Given the description of an element on the screen output the (x, y) to click on. 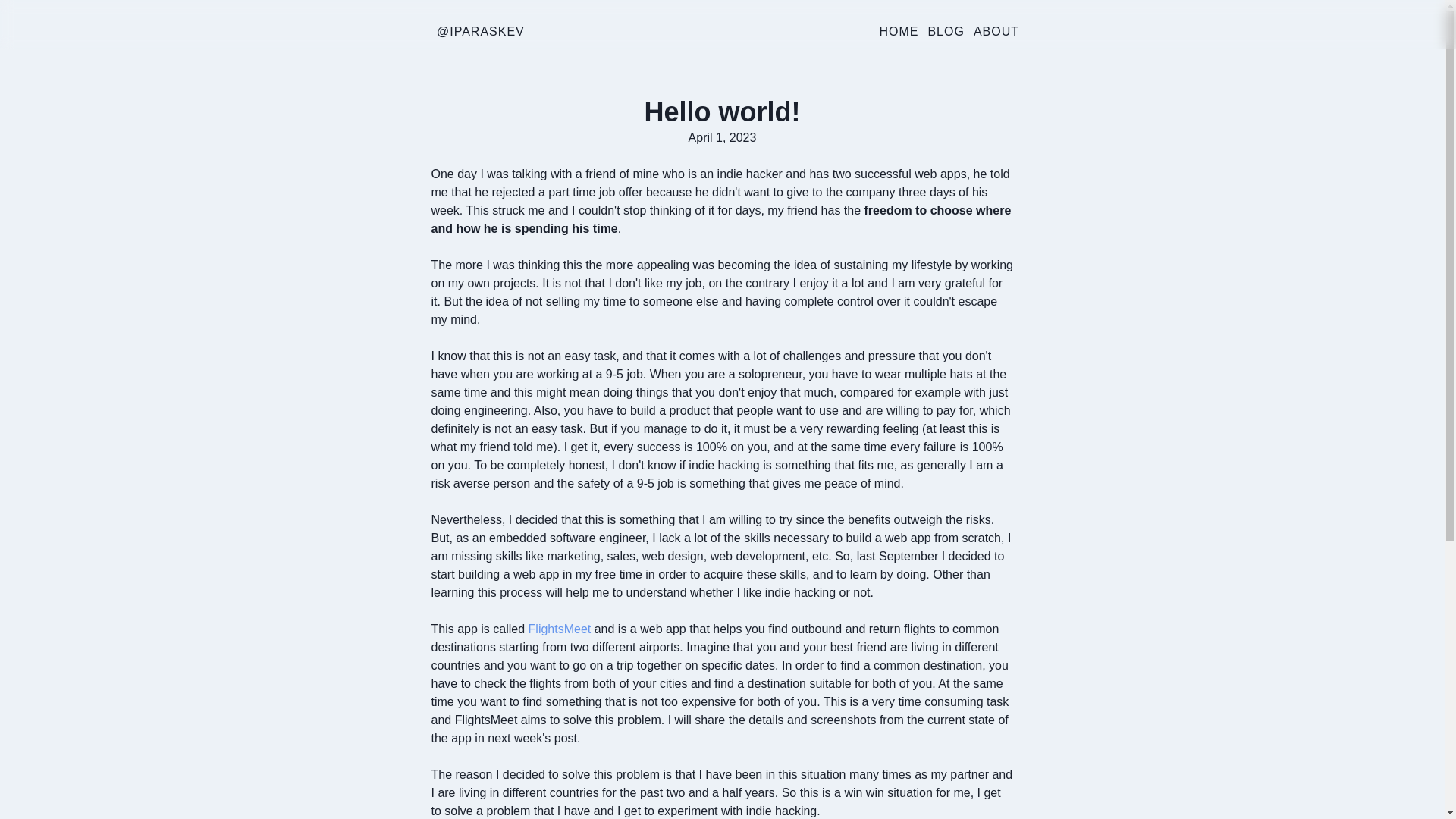
ABOUT (996, 31)
FlightsMeet (559, 628)
BLOG (945, 31)
HOME (898, 31)
